Given the description of an element on the screen output the (x, y) to click on. 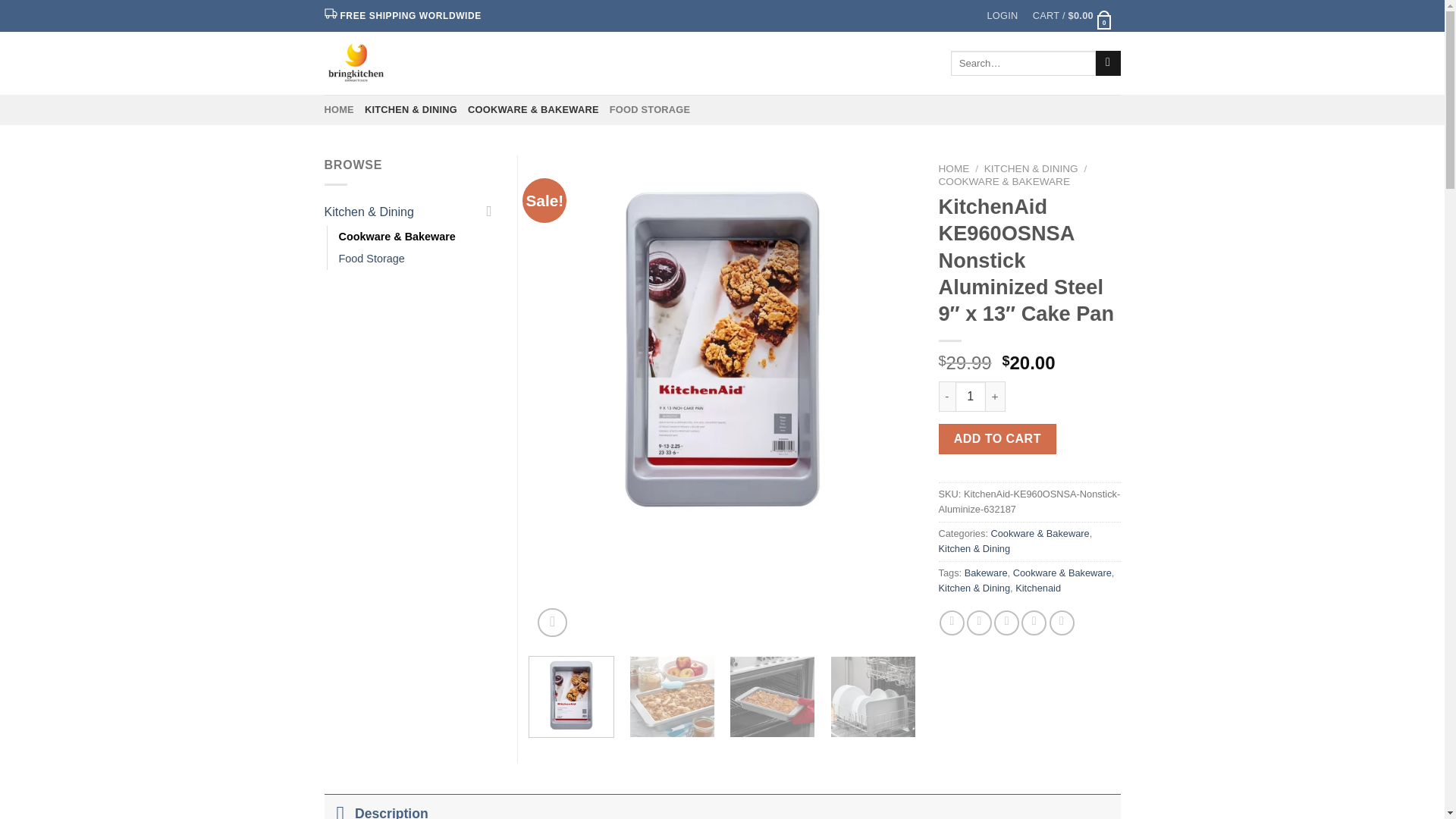
Share on Twitter (978, 622)
ADD TO CART (998, 439)
FOOD STORAGE (650, 110)
Zoom (552, 623)
Kitchenaid (1037, 587)
Cart (1072, 15)
Email to a Friend (1006, 622)
Search (1108, 63)
HOME (954, 168)
